Given the description of an element on the screen output the (x, y) to click on. 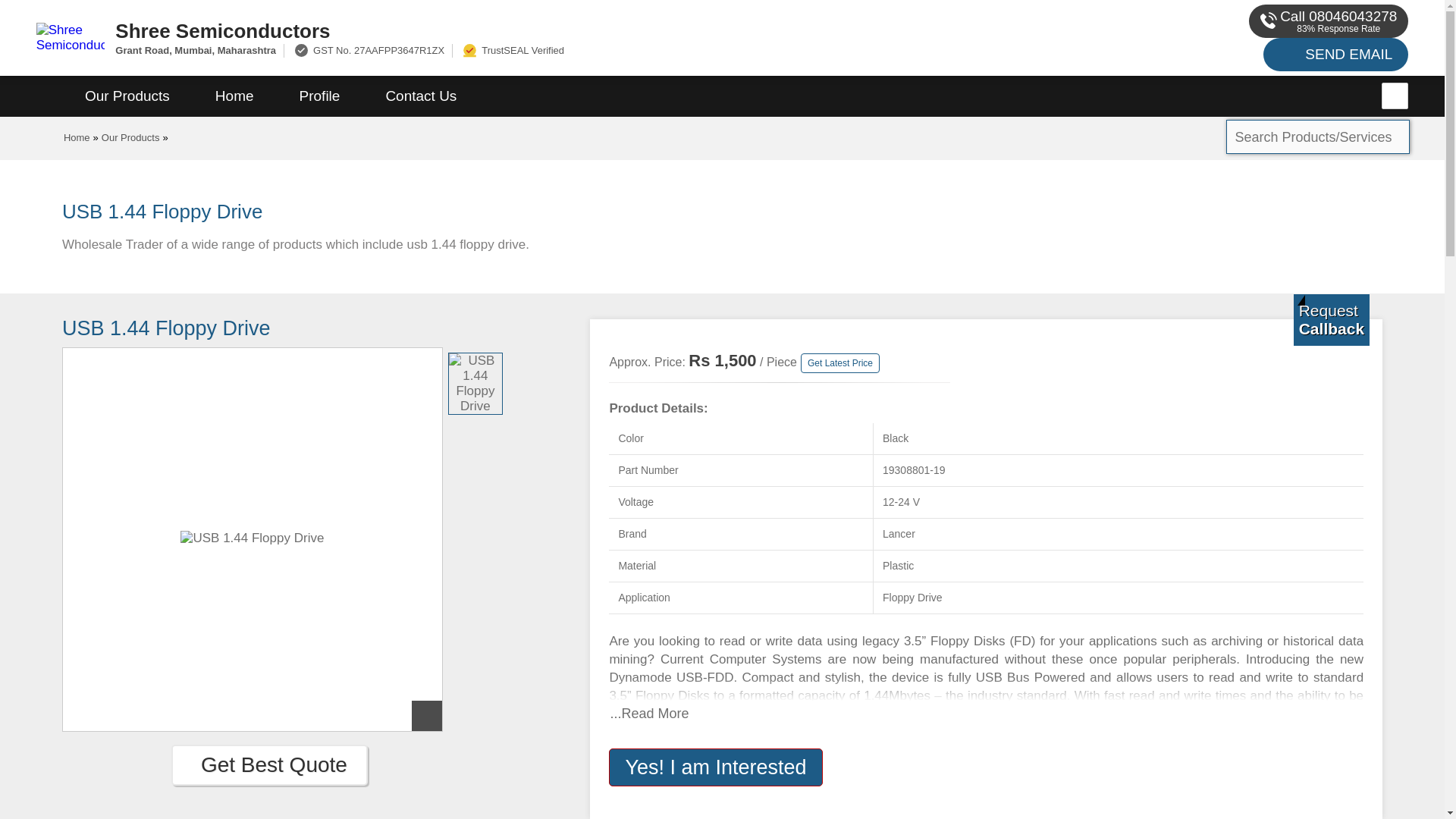
Get a Call from us (1332, 319)
Our Products (127, 96)
Profile (319, 96)
Shree Semiconductors (552, 31)
Home (234, 96)
Home (77, 137)
Contact Us (420, 96)
Our Products (130, 137)
